Given the description of an element on the screen output the (x, y) to click on. 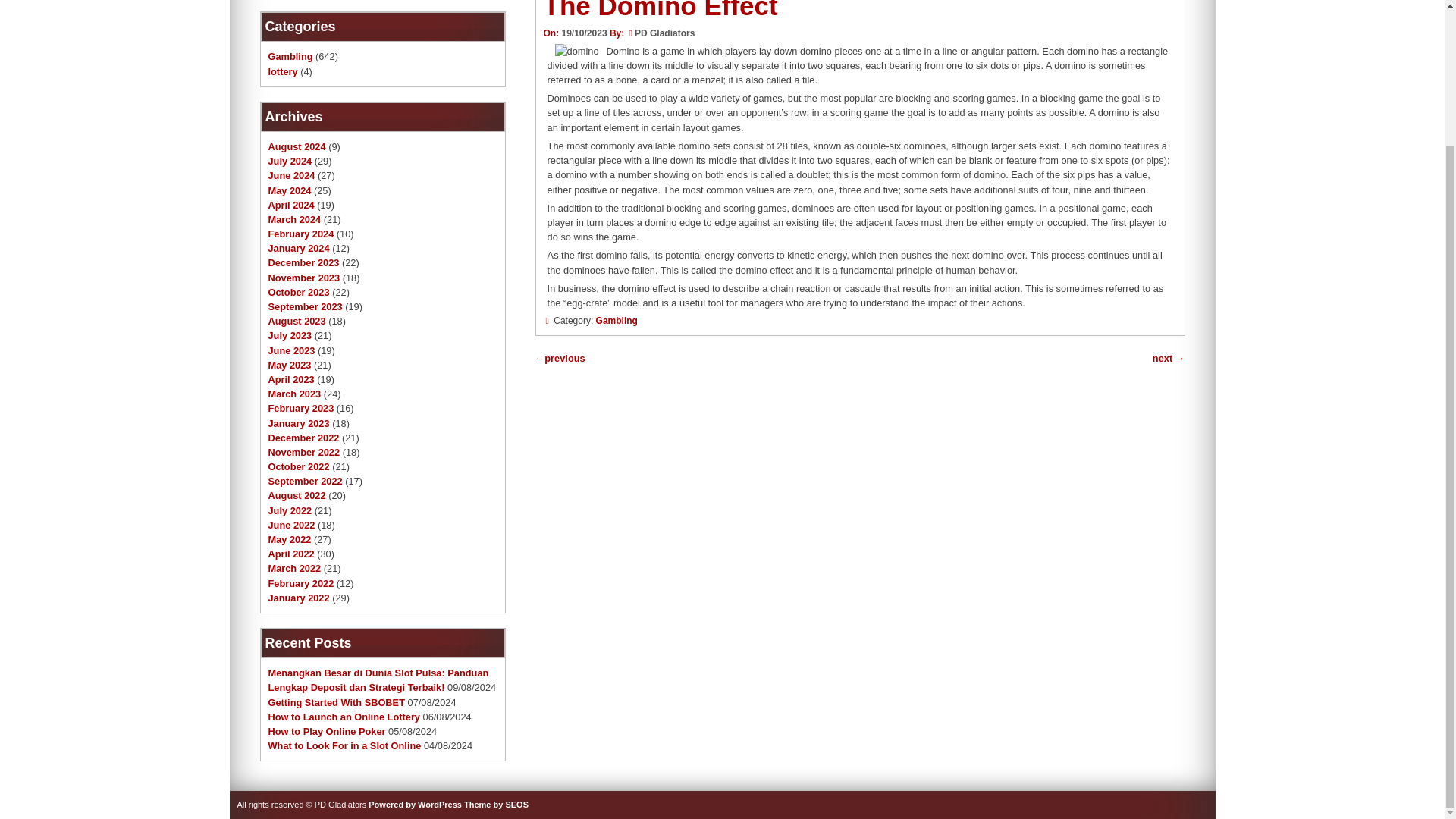
June 2022 (291, 524)
September 2023 (304, 306)
July 2024 (290, 161)
September 2022 (304, 480)
January 2023 (298, 423)
May 2024 (289, 189)
March 2024 (294, 219)
May 2023 (289, 365)
Gambling (290, 56)
August 2023 (296, 320)
